Given the description of an element on the screen output the (x, y) to click on. 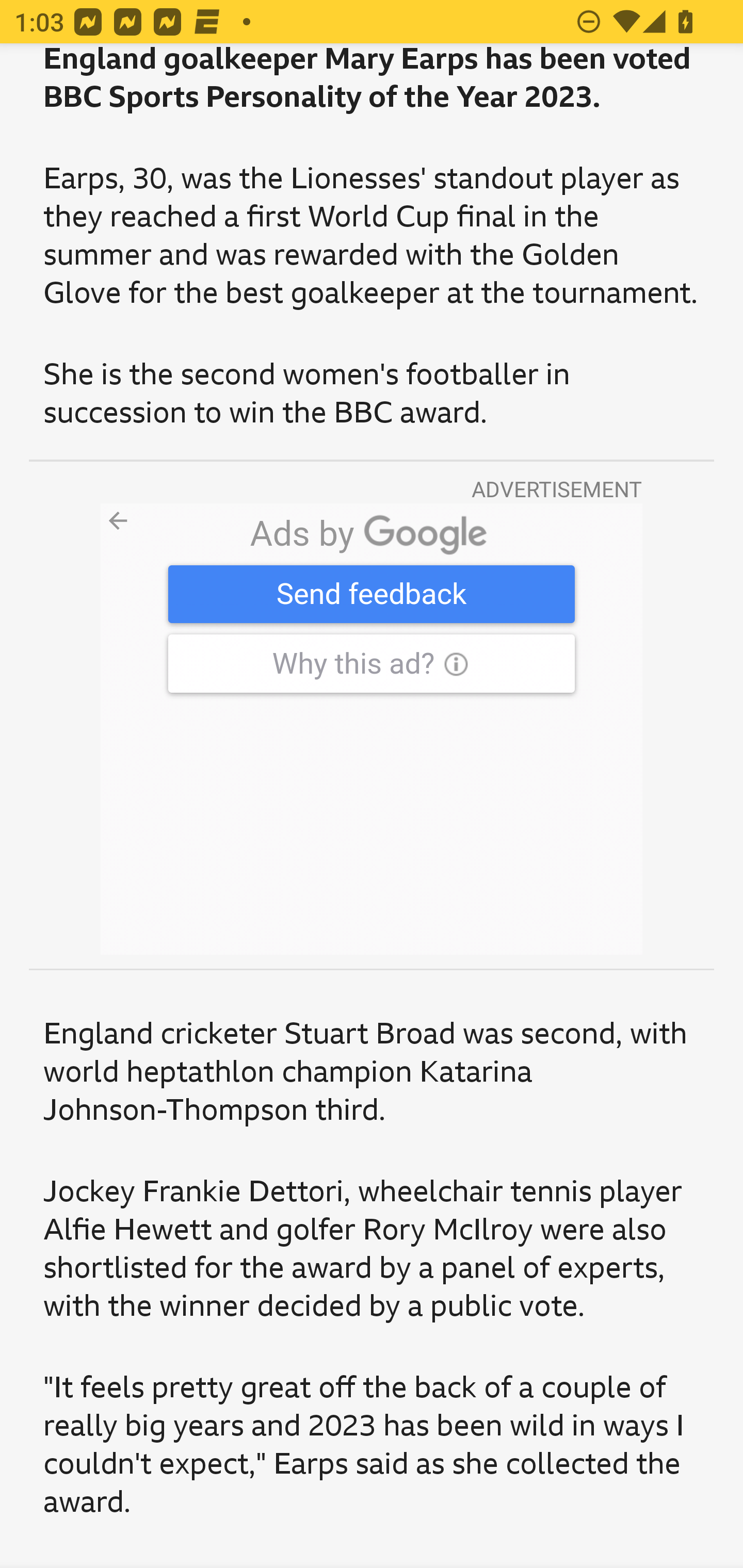
Advertisement (371, 728)
